Given the description of an element on the screen output the (x, y) to click on. 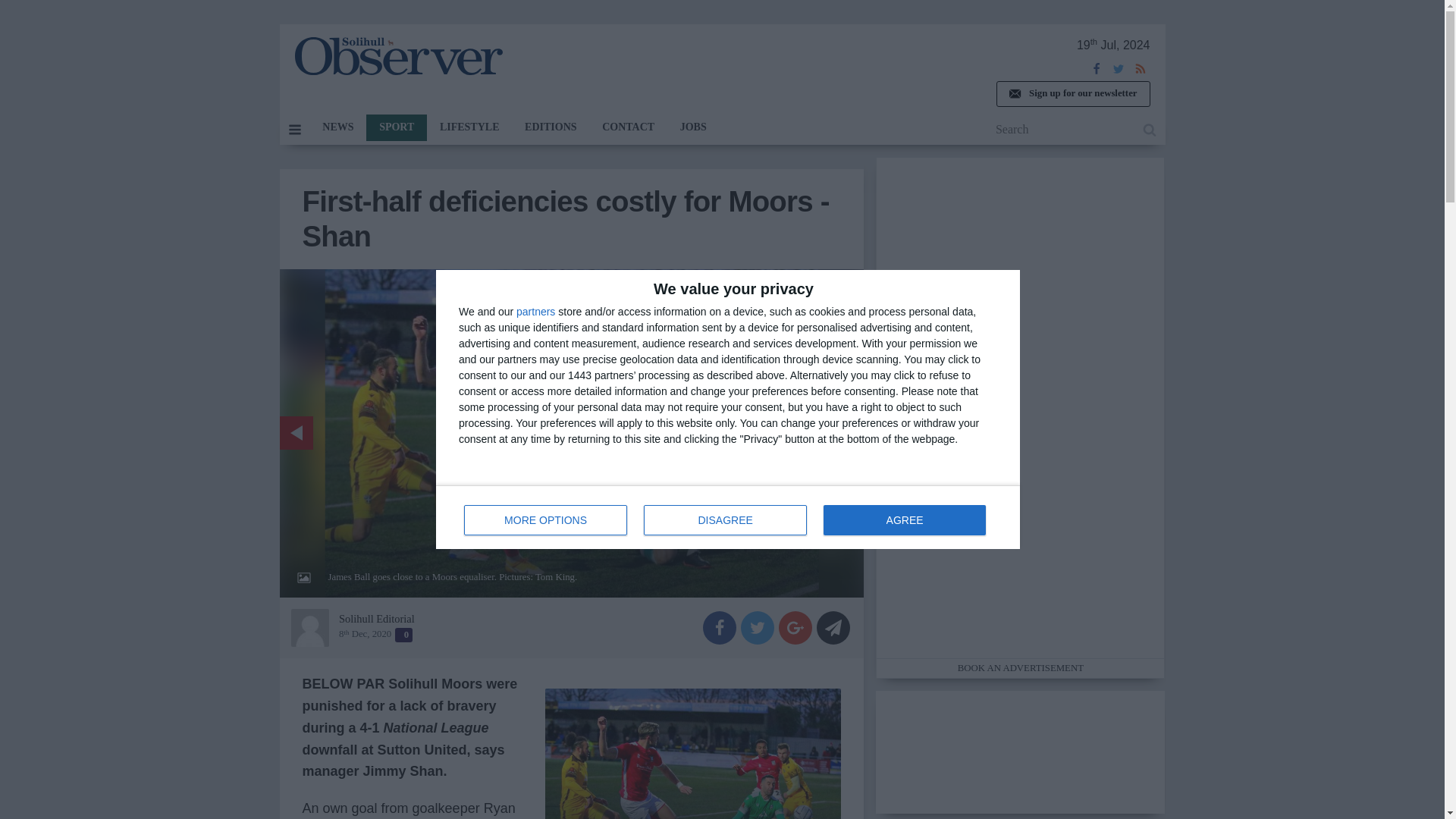
MORE OPTIONS (545, 520)
EDITIONS (550, 127)
LIFESTYLE (469, 127)
The Solihull Observer (398, 55)
AGREE (727, 516)
partners (904, 520)
SPORT (535, 311)
NEWS (396, 127)
  Sign up for our newsletter (337, 127)
DISAGREE (1072, 94)
